Given the description of an element on the screen output the (x, y) to click on. 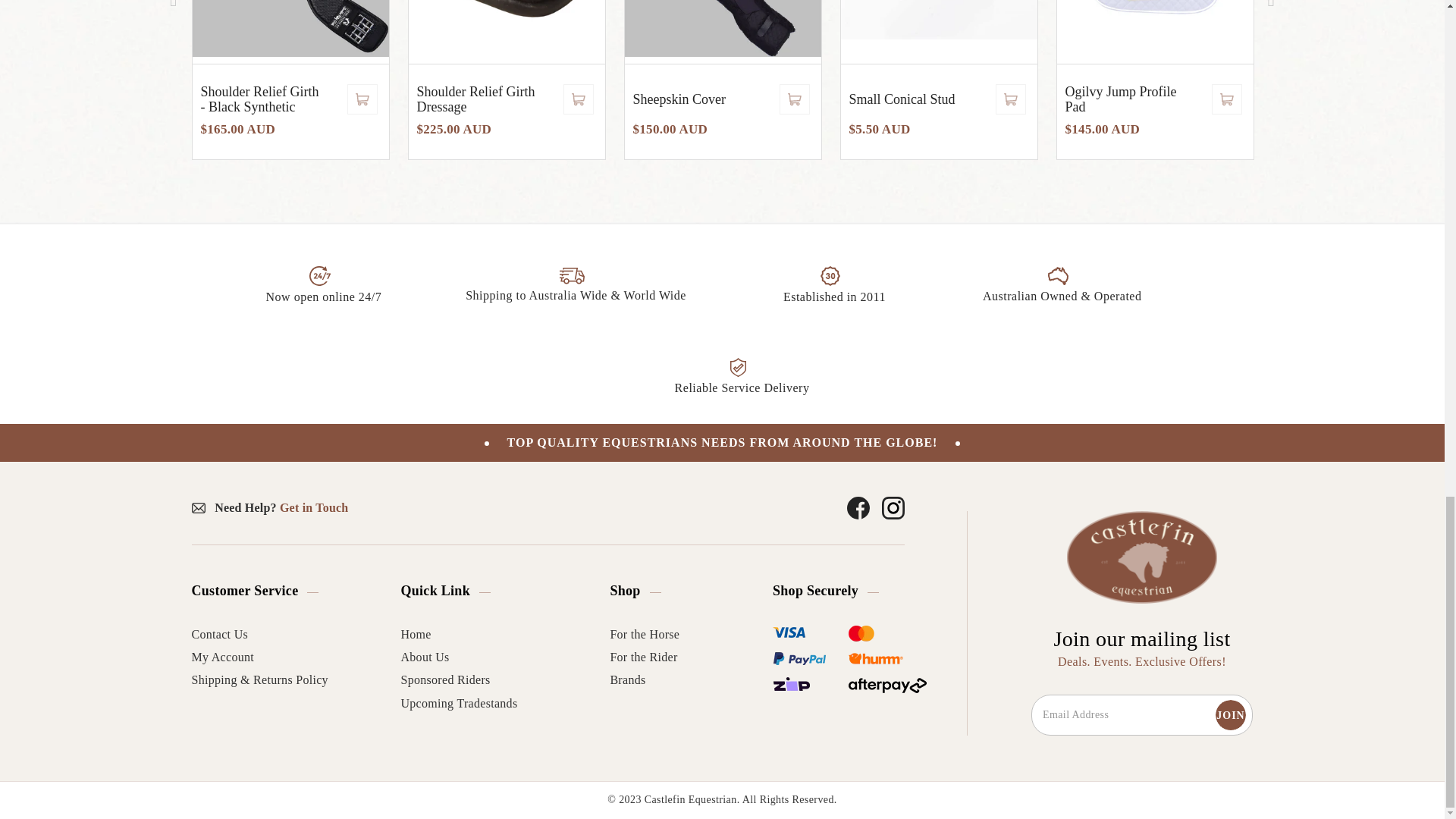
Join (1230, 715)
